Given the description of an element on the screen output the (x, y) to click on. 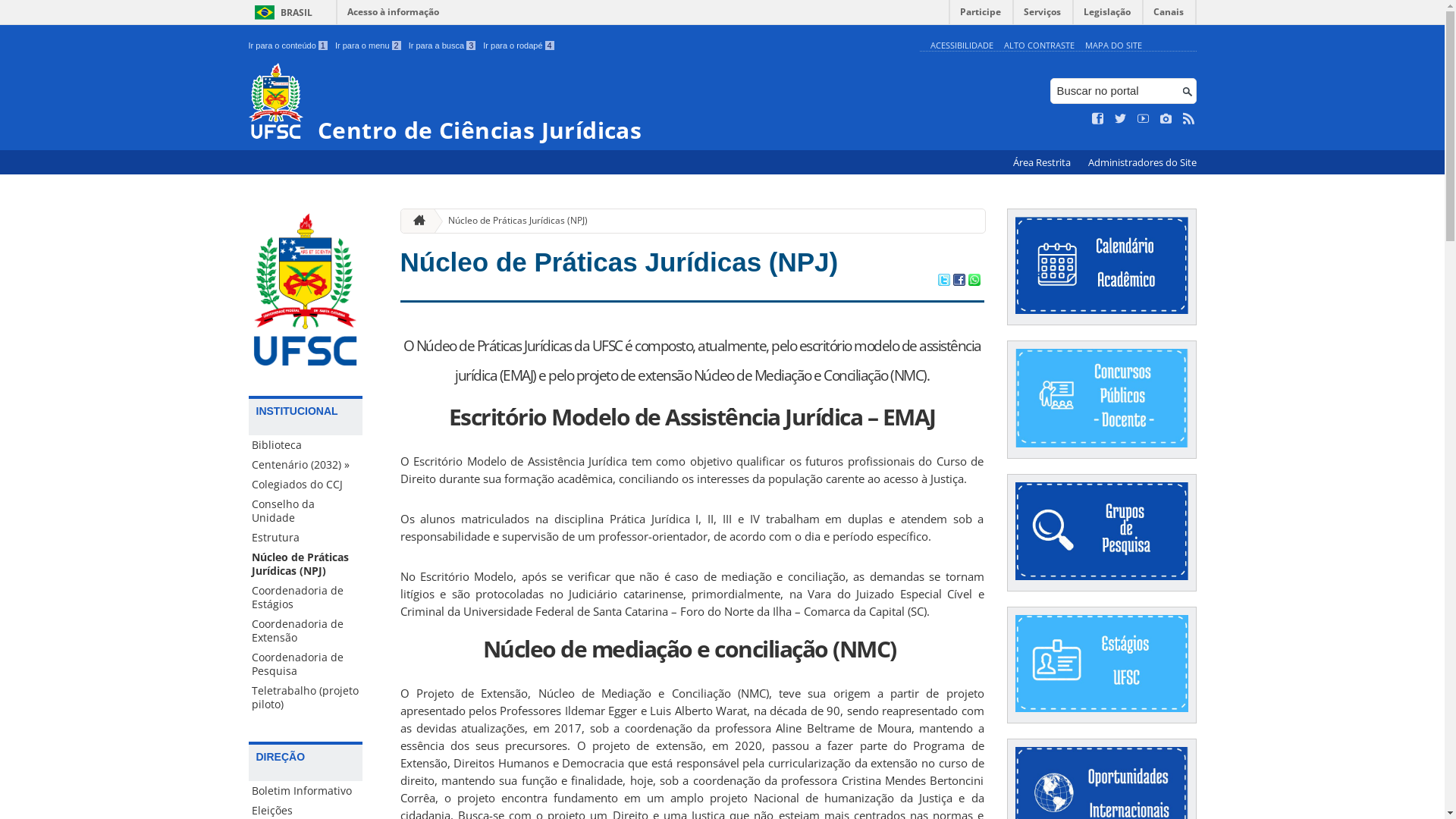
Ir para o menu 2 Element type: text (368, 45)
Siga no Twitter Element type: hover (1120, 118)
Biblioteca Element type: text (305, 445)
Compartilhar no Facebook Element type: hover (958, 280)
Veja no Instagram Element type: hover (1166, 118)
Teletrabalho (projeto piloto) Element type: text (305, 697)
ACESSIBILIDADE Element type: text (960, 44)
Administradores do Site Element type: text (1141, 162)
Curta no Facebook Element type: hover (1098, 118)
Boletim Informativo Element type: text (305, 790)
Ir para a busca 3 Element type: text (442, 45)
Compartilhar no WhatsApp Element type: hover (973, 280)
BRASIL Element type: text (280, 12)
Canais Element type: text (1169, 15)
MAPA DO SITE Element type: text (1112, 44)
ALTO CONTRASTE Element type: text (1039, 44)
Participe Element type: text (980, 15)
Compartilhar no Twitter Element type: hover (943, 280)
Colegiados do CCJ Element type: text (305, 484)
Coordenadoria de Pesquisa Element type: text (305, 663)
Estrutura Element type: text (305, 537)
Conselho da Unidade Element type: text (305, 510)
